Given the description of an element on the screen output the (x, y) to click on. 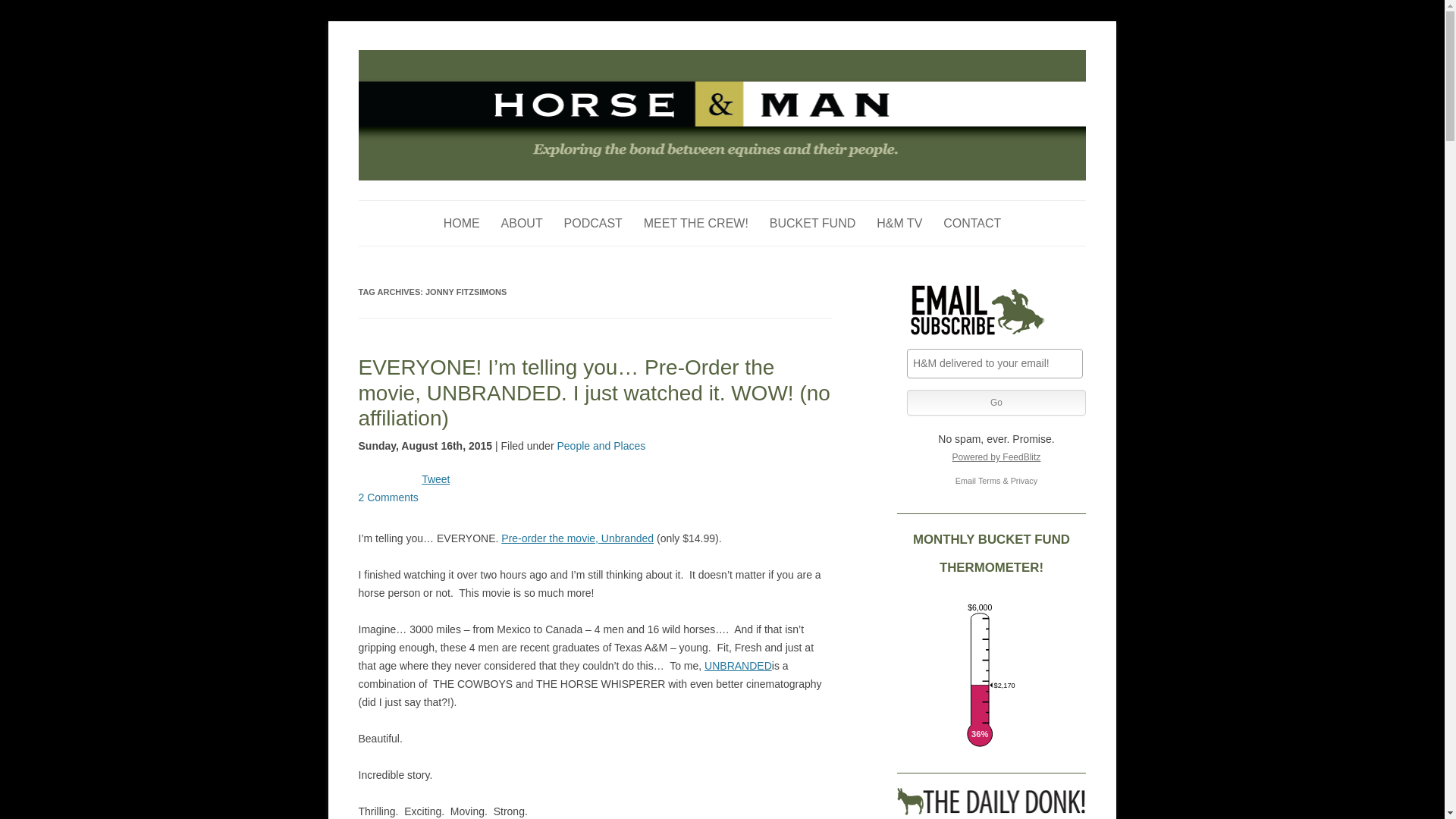
Horse and Man (428, 57)
Horse and Man (428, 57)
CONTACT (972, 222)
Contact Horse and Man (972, 222)
Go (996, 402)
Meet the Horse and Man Crew (695, 222)
MEET THE CREW! (695, 222)
UNBRANDED (737, 665)
Skip to content (757, 204)
BUCKET FUND (813, 222)
The Drop in the Bucket Fund Story (813, 222)
Pre-order the movie, Unbranded (576, 538)
2 Comments (387, 497)
About Horse and Man (521, 222)
Skip to content (757, 204)
